Given the description of an element on the screen output the (x, y) to click on. 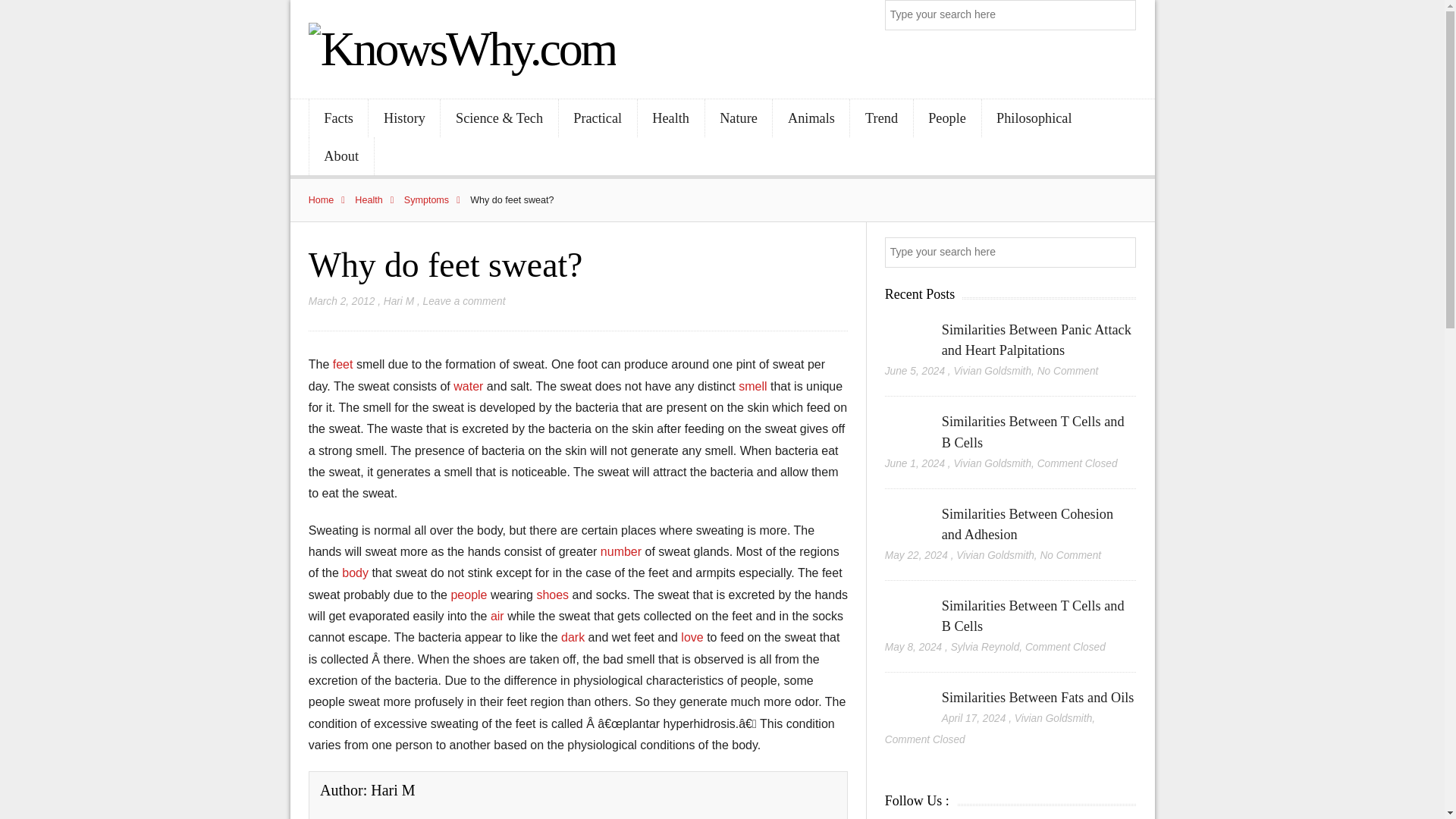
People (947, 118)
About (341, 156)
water (469, 386)
love (693, 636)
Animals (810, 118)
WHY DOES LOVE HURT? (693, 636)
WHY DO SHOES HANG ON POWER LINES (553, 594)
Leave a comment (464, 301)
Health (670, 118)
Trend (881, 118)
people (469, 594)
Symptoms (435, 199)
Posts by Hari M (398, 301)
feet (344, 364)
Nature (738, 118)
